Given the description of an element on the screen output the (x, y) to click on. 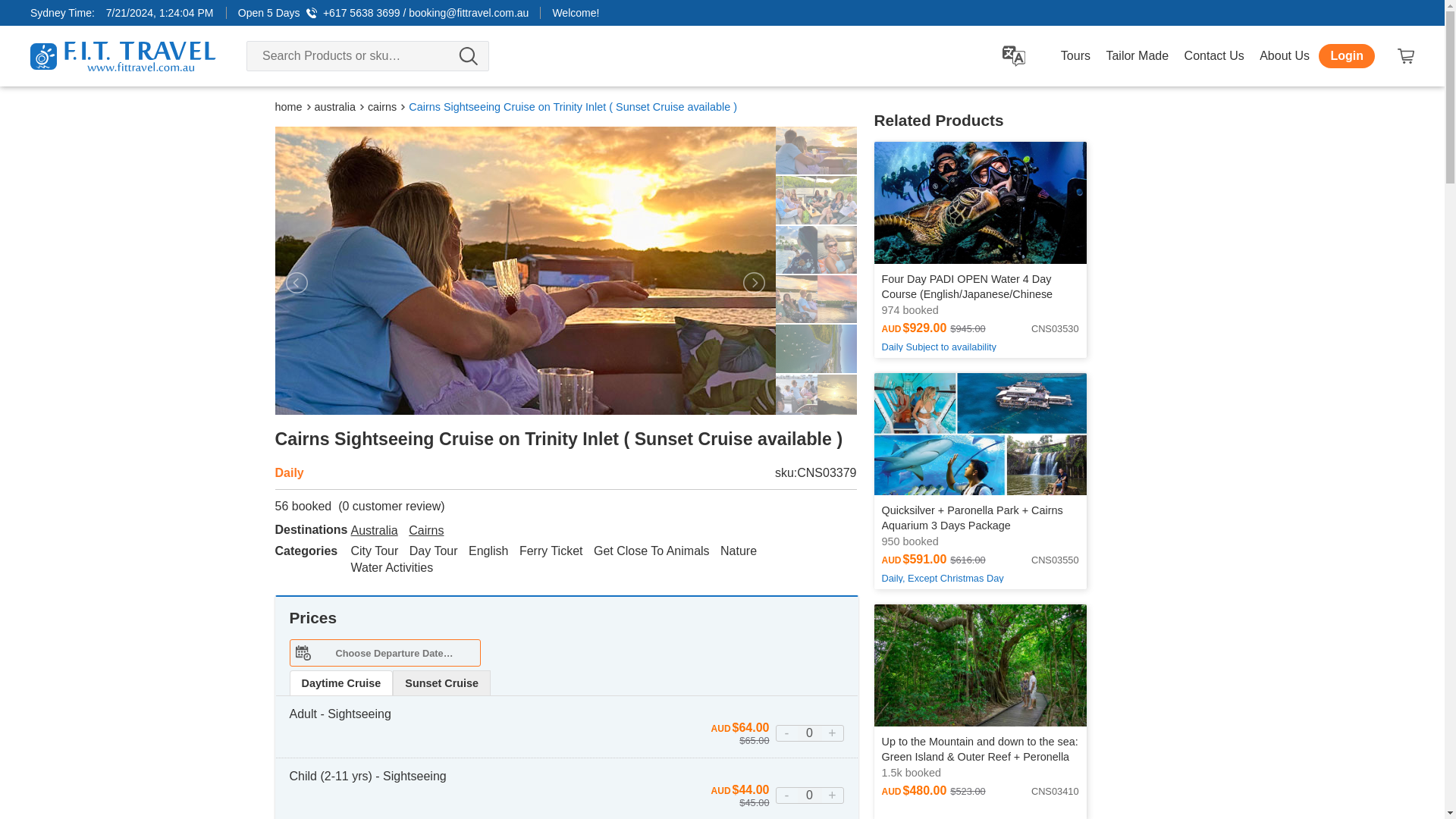
Login (1346, 55)
Qty (809, 733)
Tailor Made (1136, 55)
Qty (809, 795)
Contact Us (1213, 55)
Search for: (367, 55)
0 (809, 733)
About Us (1284, 55)
Tours (1075, 55)
0 (809, 795)
